Given the description of an element on the screen output the (x, y) to click on. 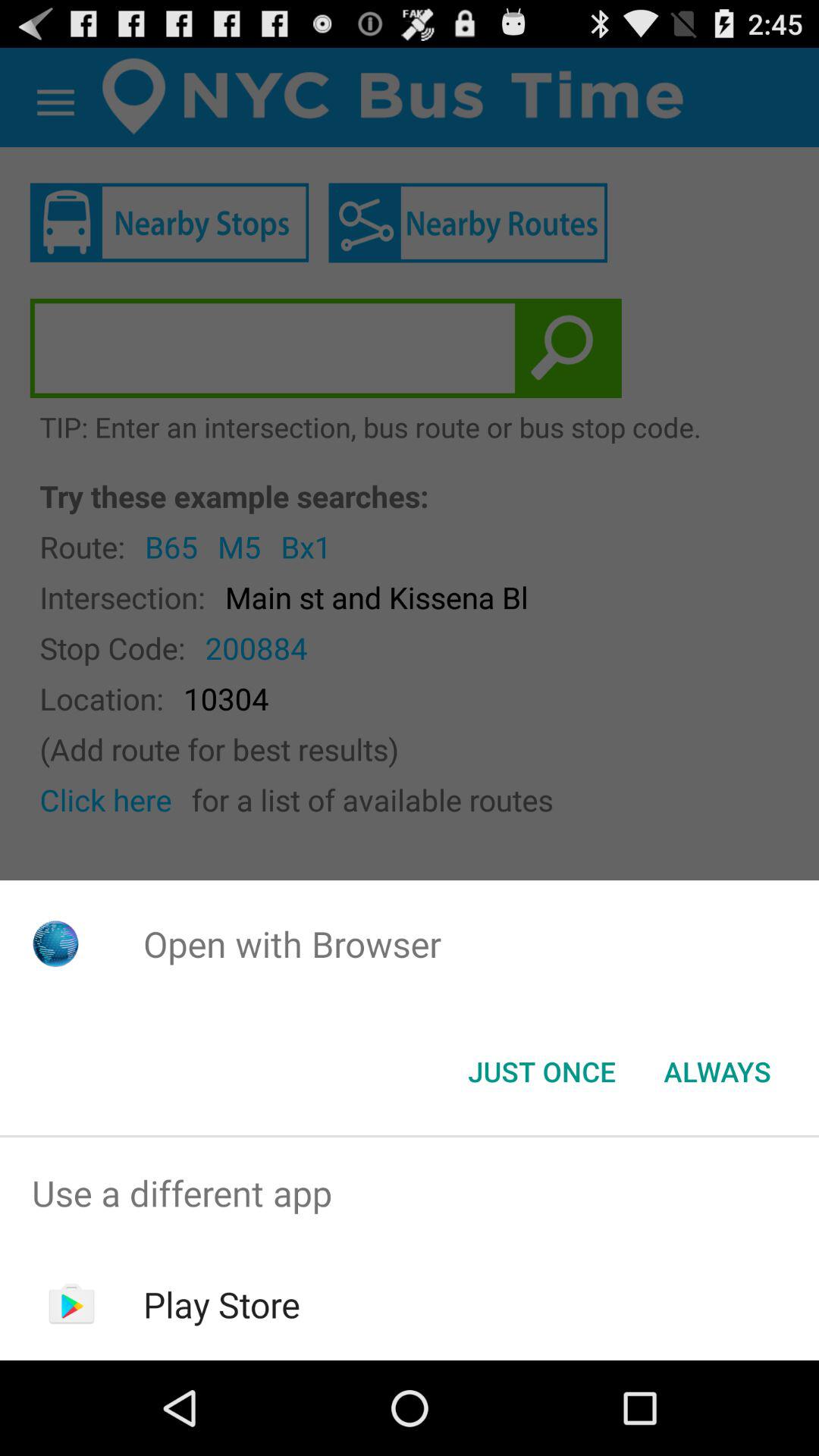
open icon next to the always icon (541, 1071)
